Given the description of an element on the screen output the (x, y) to click on. 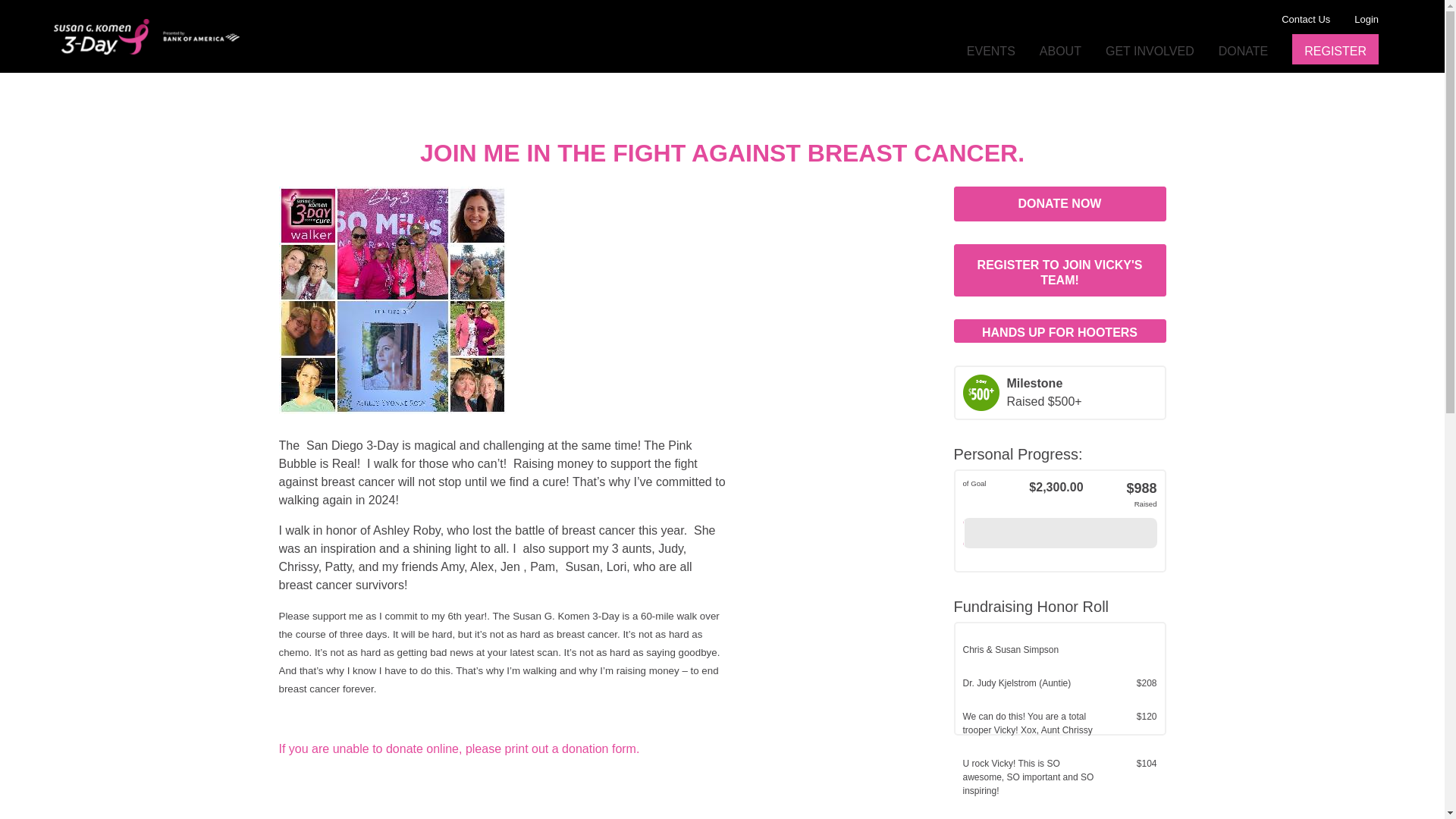
GET INVOLVED (1149, 51)
ABOUT (1060, 51)
EVENTS (990, 51)
DONATE NOW (1059, 203)
DONATE (1243, 51)
REGISTER TO JOIN VICKY'S TEAM! (1059, 270)
REGISTER (1335, 51)
HANDS UP FOR HOOTERS (1059, 331)
Login (1366, 19)
